Given the description of an element on the screen output the (x, y) to click on. 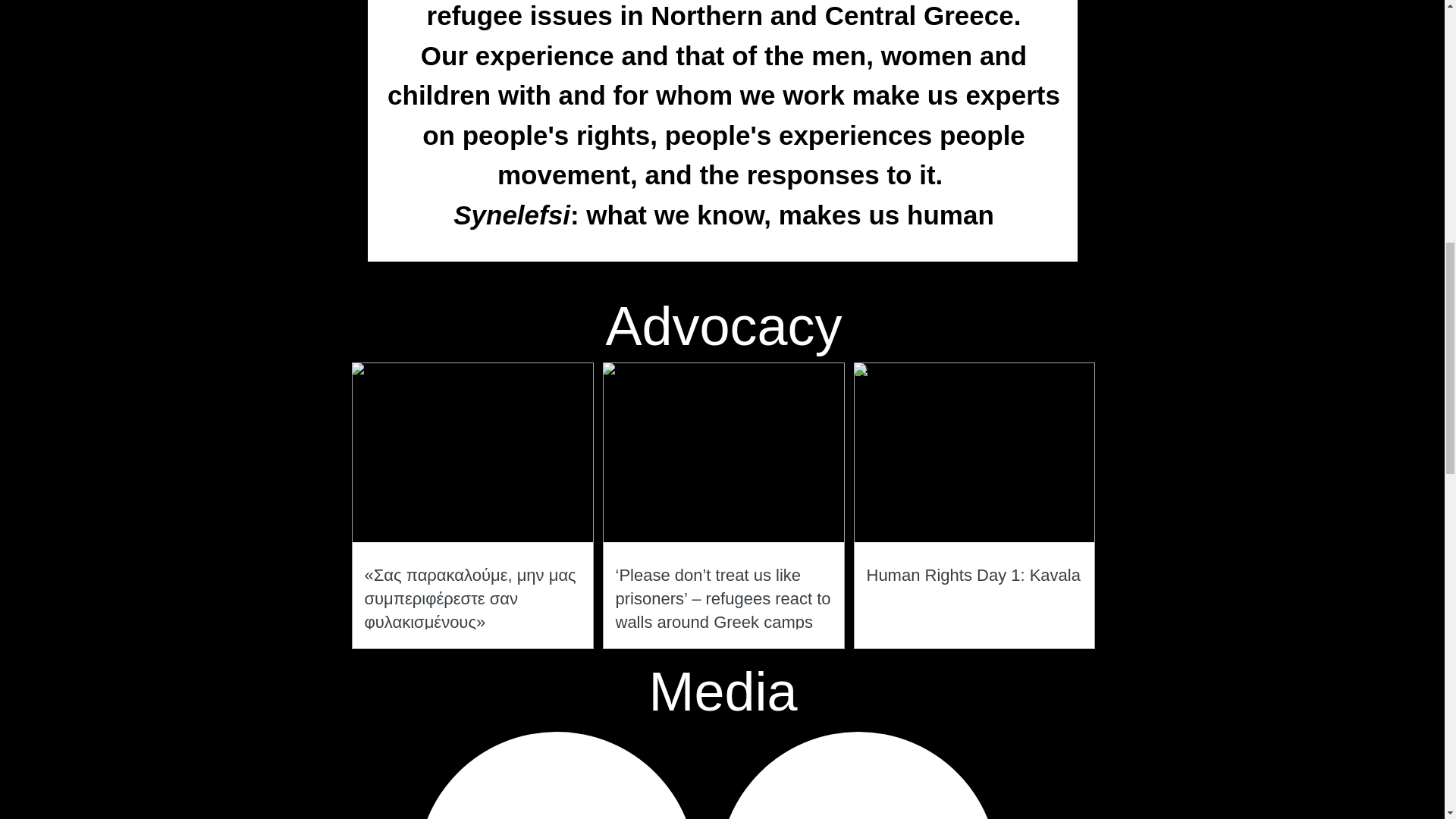
Human Rights Day 1: Kavala (973, 576)
Advocacy (723, 325)
